Given the description of an element on the screen output the (x, y) to click on. 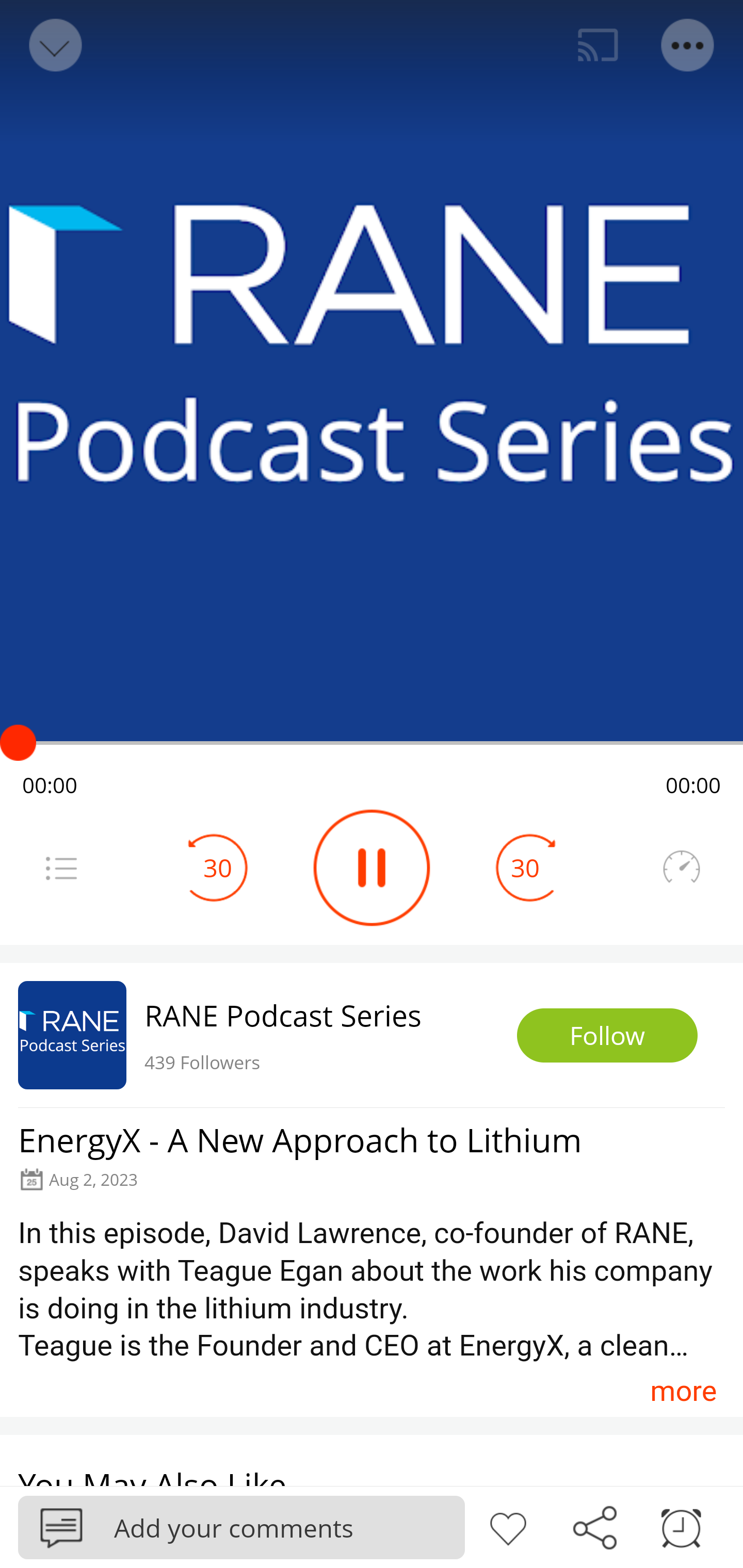
Back (53, 45)
Cast. Disconnected (597, 45)
Menu (688, 45)
Play (371, 867)
30 Seek Backward (217, 867)
30 Seek Forward (525, 867)
Menu (60, 867)
Speedometer (681, 867)
RANE Podcast Series 439 Followers Follow (371, 1034)
Follow (607, 1035)
more (682, 1390)
Like (508, 1526)
Share (594, 1526)
Sleep timer (681, 1526)
Podbean Add your comments (241, 1526)
